Given the description of an element on the screen output the (x, y) to click on. 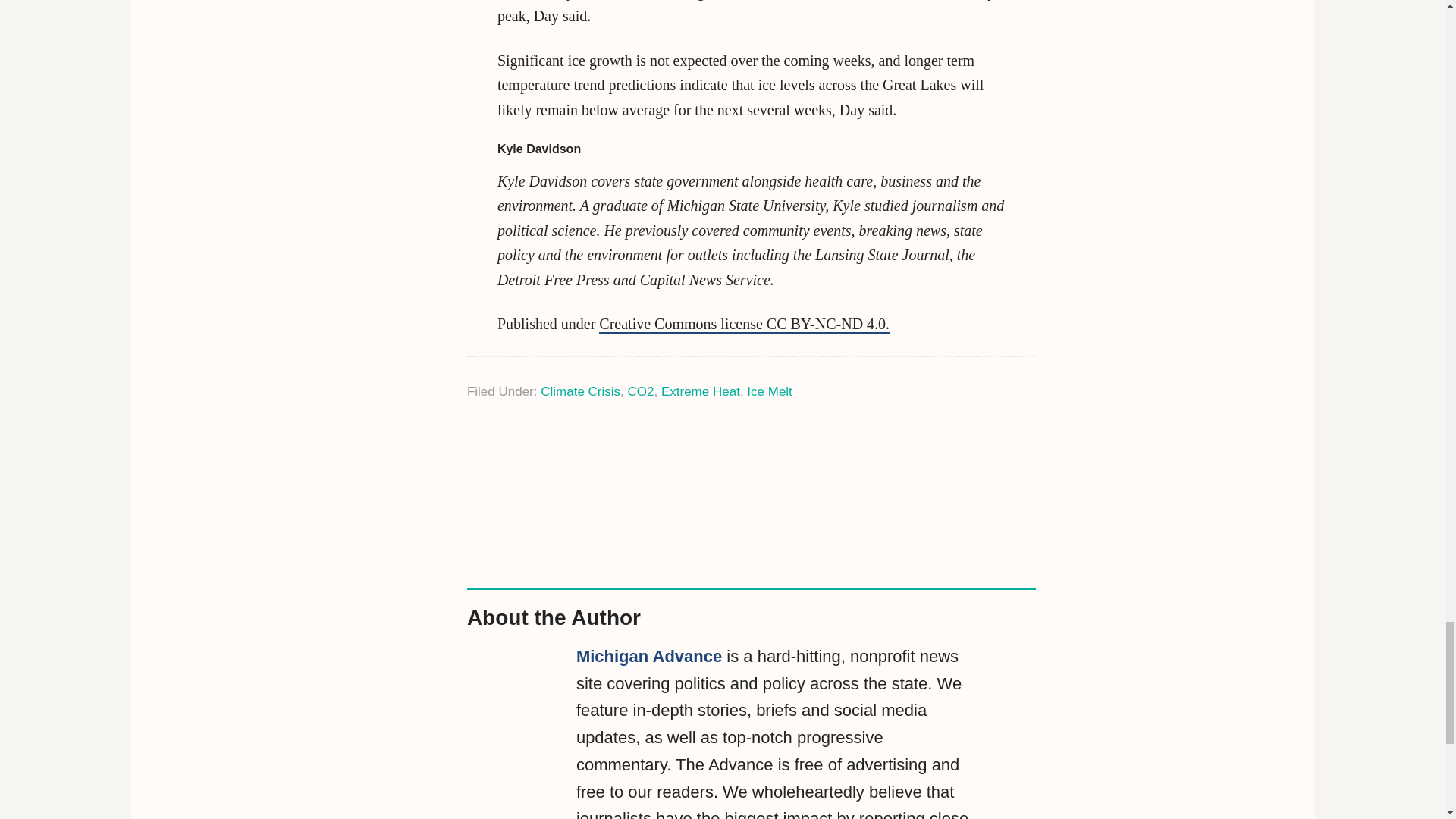
Michigan Advance (649, 656)
CO2 (640, 391)
Extreme Heat (700, 391)
Ice Melt (769, 391)
Creative Commons license CC BY-NC-ND 4.0. (743, 324)
Climate Crisis (580, 391)
